Given the description of an element on the screen output the (x, y) to click on. 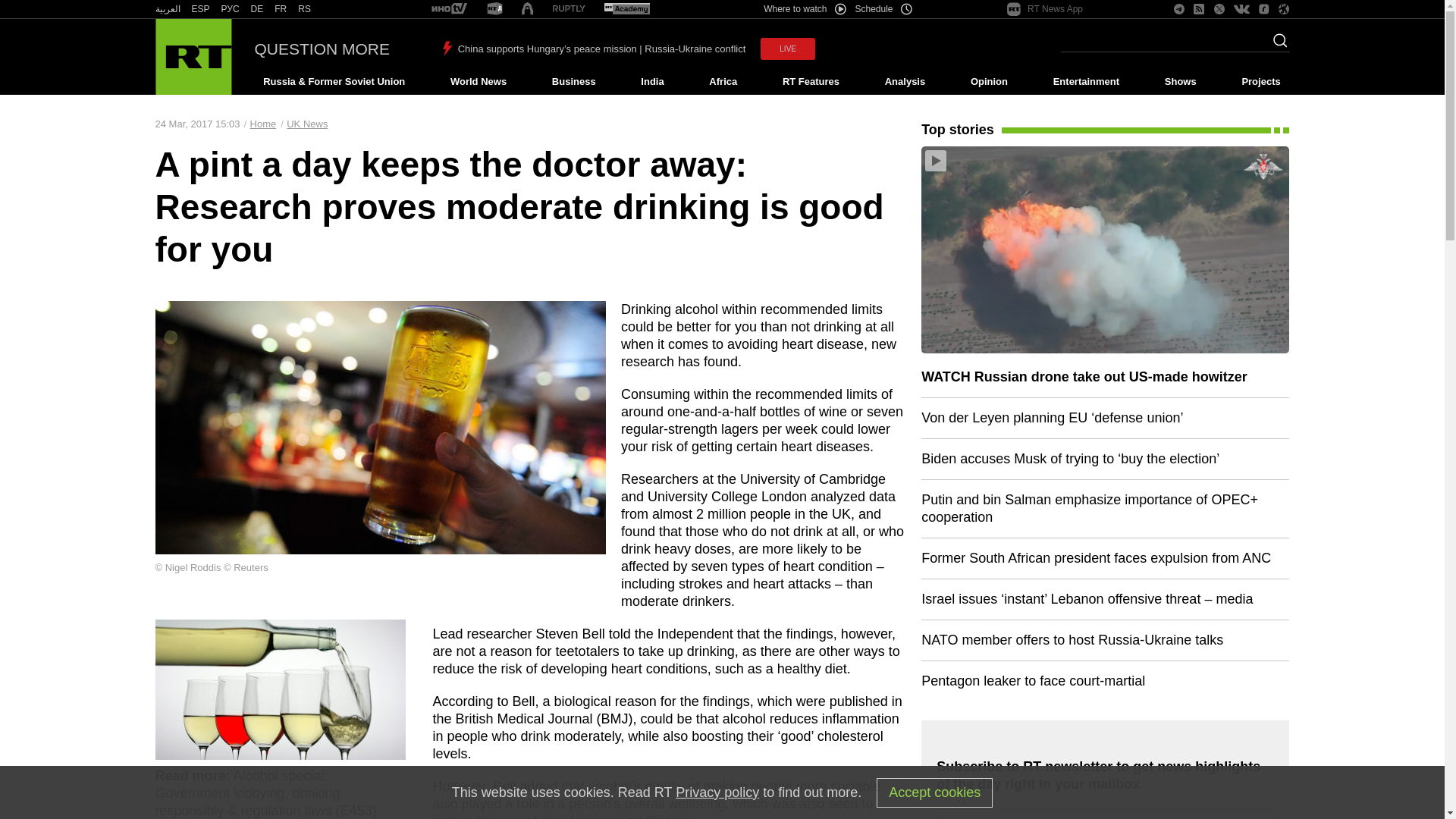
RT  (199, 9)
Search (1276, 44)
DE (256, 9)
RT  (230, 9)
RT Features (810, 81)
RT  (256, 9)
RT News App (1045, 9)
RT  (626, 9)
Schedule (884, 9)
Projects (1261, 81)
ESP (199, 9)
Entertainment (1085, 81)
Africa (722, 81)
Where to watch (803, 9)
RS (304, 9)
